Given the description of an element on the screen output the (x, y) to click on. 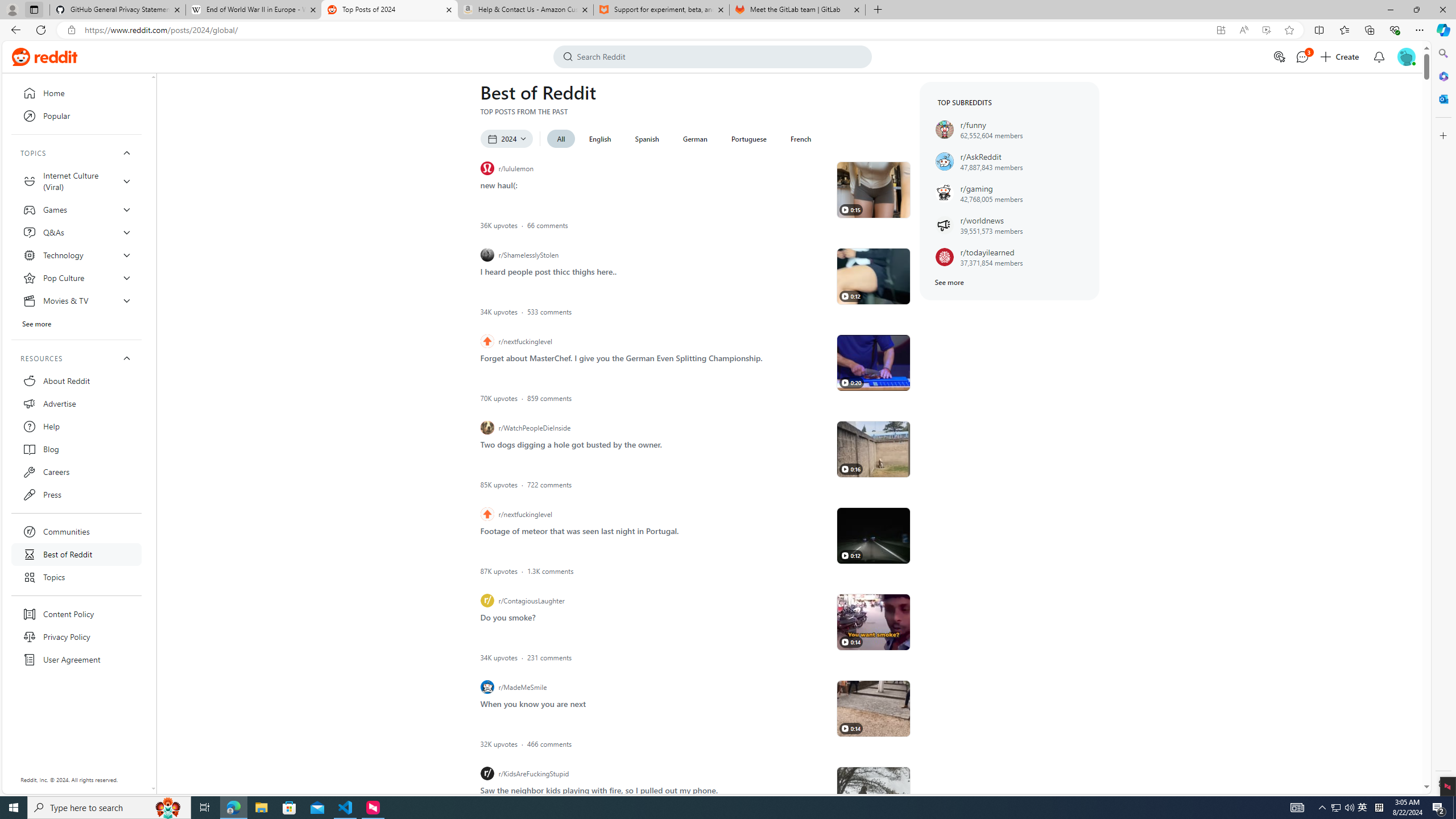
Internet Culture (Viral) (76, 181)
Privacy Policy (76, 636)
Portuguese (748, 138)
r/todayilearned icon (943, 257)
r/lululemon - new haul(:  (873, 189)
Pop Culture (76, 277)
r/todayilearned 37,371,854 members (1009, 256)
Popular (76, 115)
App available. Install Reddit (1220, 29)
r/lululemon icon (486, 168)
